Given the description of an element on the screen output the (x, y) to click on. 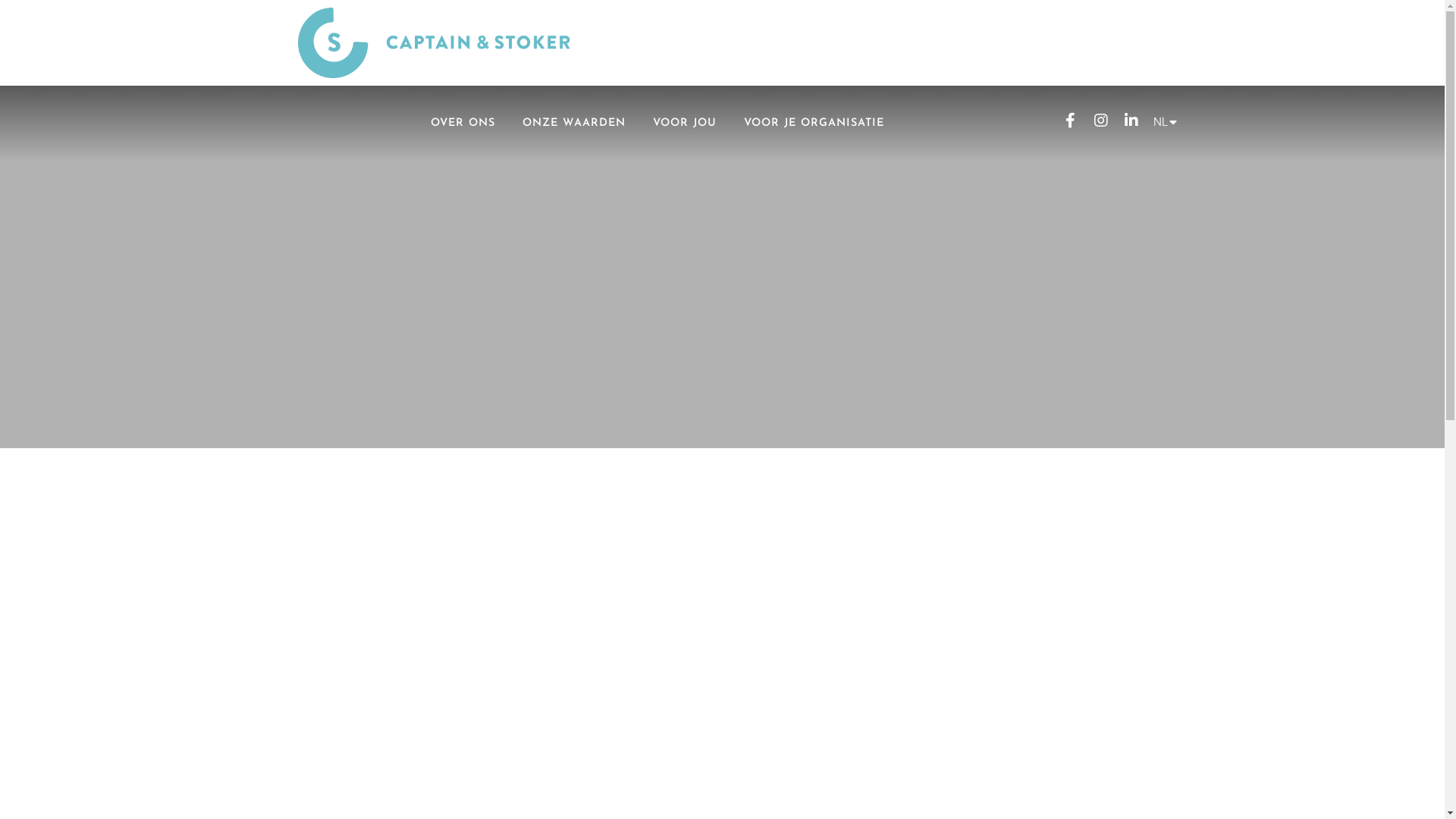
VOOR JE ORGANISATIE Element type: text (813, 123)
NL Element type: text (1161, 121)
ONZE WAARDEN Element type: text (573, 123)
VOOR JOU Element type: text (684, 123)
OVER ONS Element type: text (462, 123)
